Given the description of an element on the screen output the (x, y) to click on. 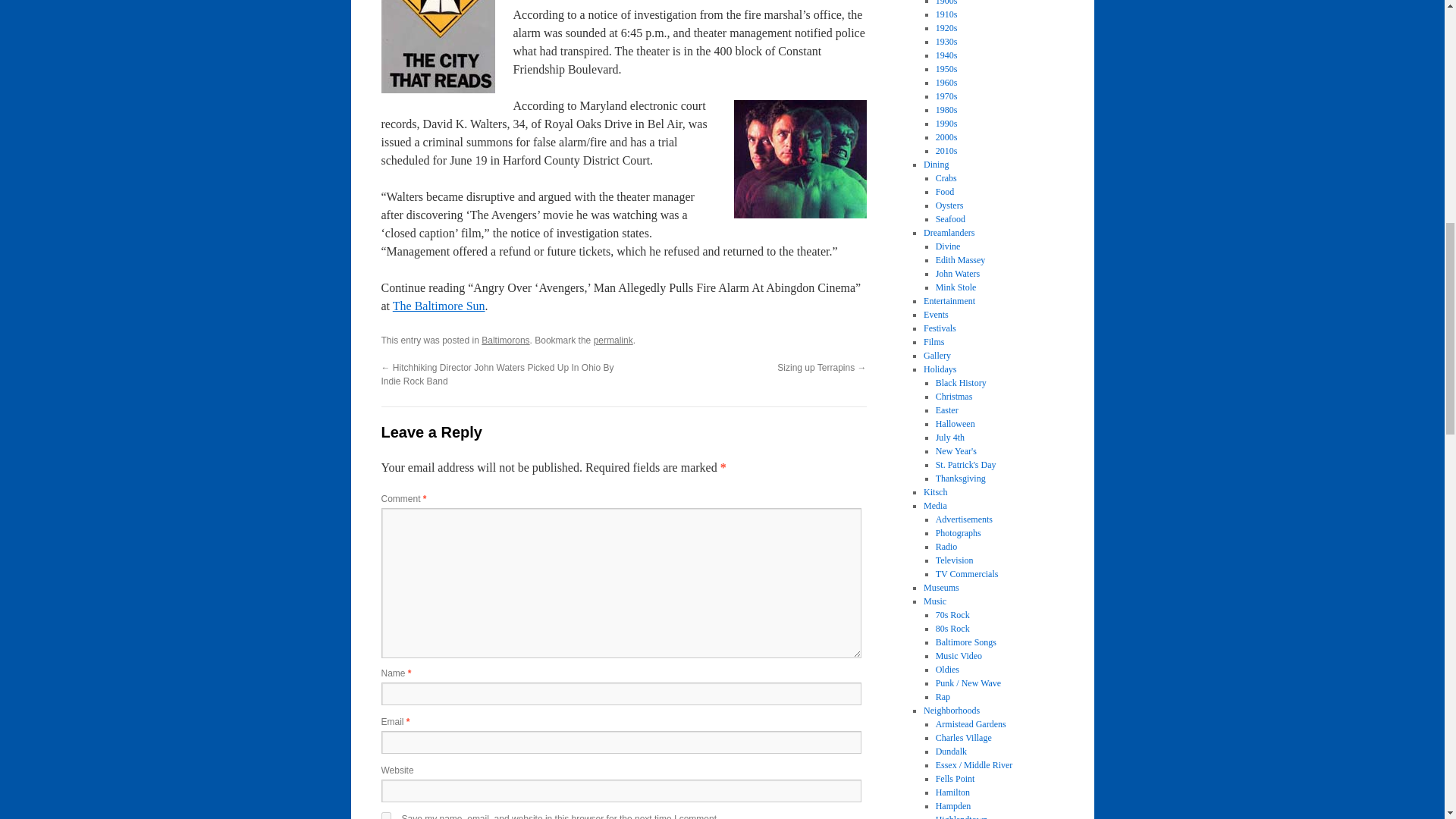
Baltimorons (505, 339)
yes (385, 815)
cityreads (437, 46)
The Baltimore Sun (438, 305)
permalink (613, 339)
